Given the description of an element on the screen output the (x, y) to click on. 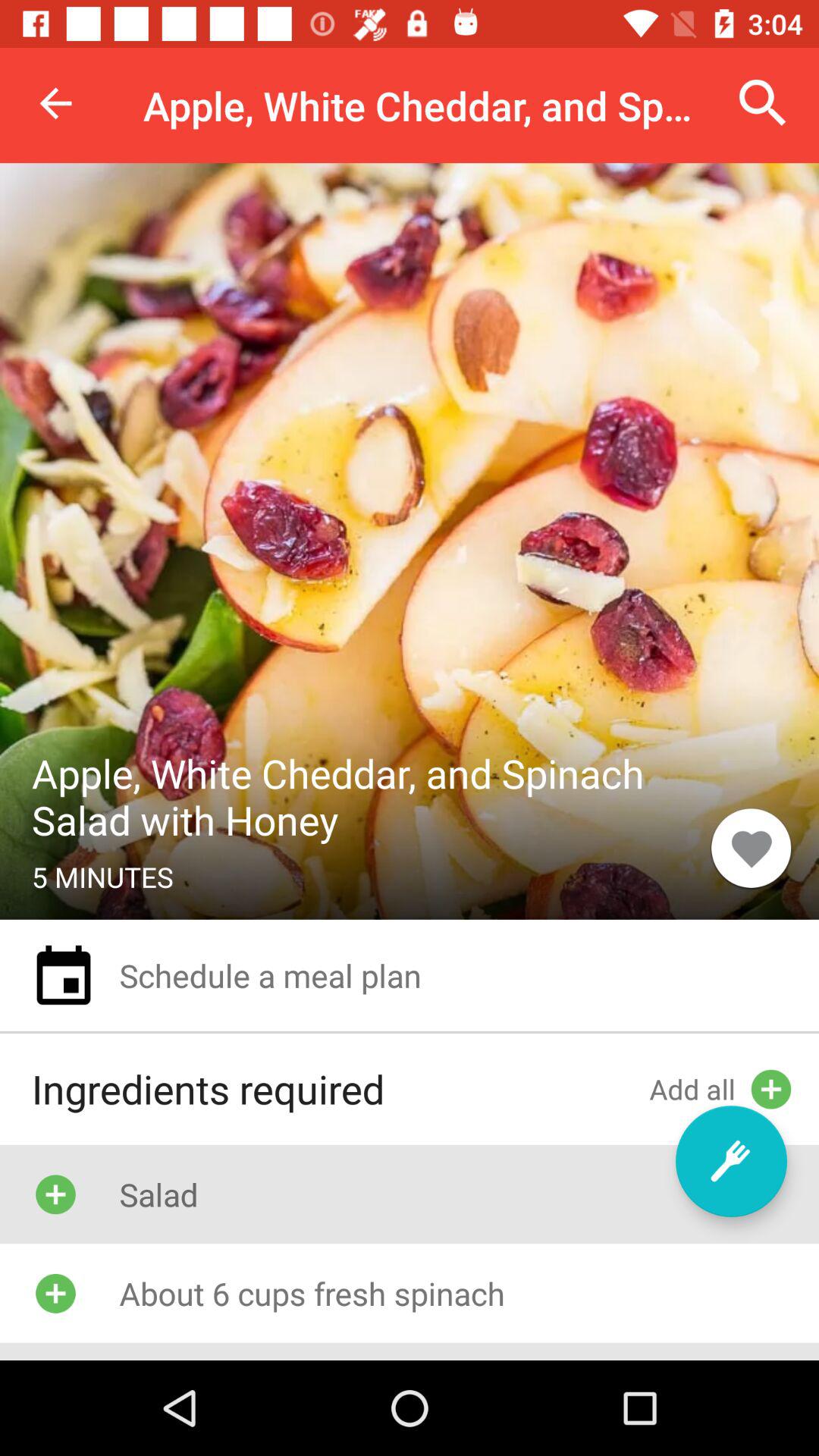
click the item next to apple white cheddar icon (751, 847)
